Given the description of an element on the screen output the (x, y) to click on. 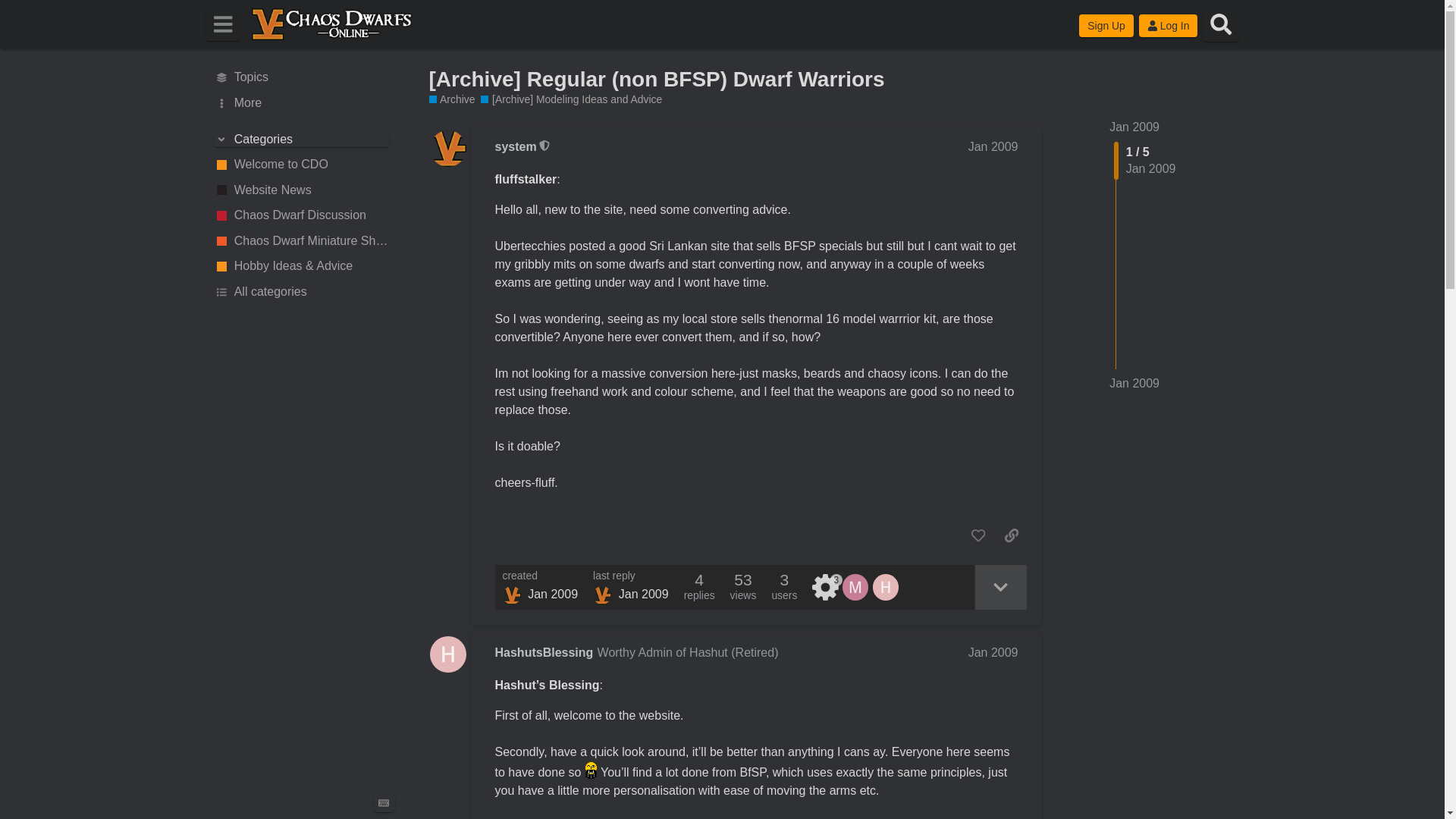
Topics (301, 77)
This user is a moderator (544, 146)
24 Jan 2009 10:17 (1133, 382)
Keyboard Shortcuts (384, 802)
This section is for Staff announcements: News and contests. (301, 190)
Website News (301, 190)
Jan 2009 (992, 652)
More (301, 103)
Jan 2009 (1133, 126)
Archive (452, 99)
Jan 2009 (1133, 126)
Jan 2009 (1133, 383)
Sign Up (1105, 25)
